Given the description of an element on the screen output the (x, y) to click on. 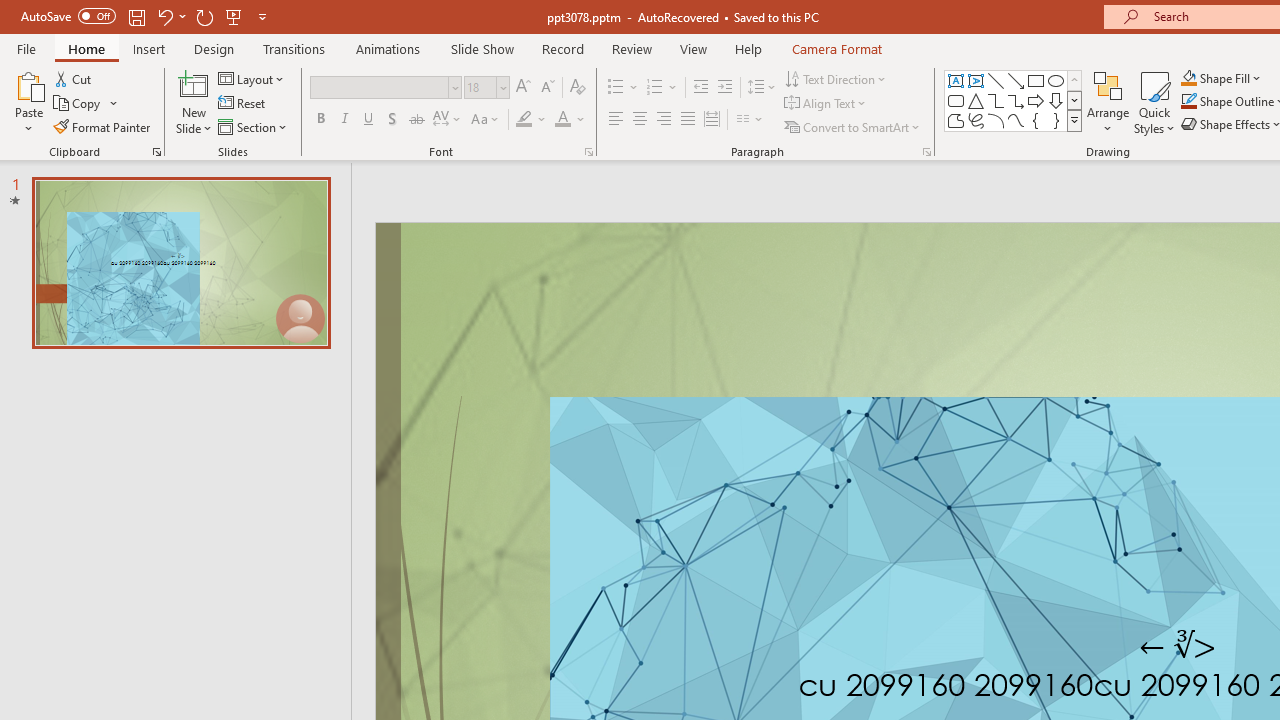
Copy (78, 103)
Text Box (955, 80)
Center (639, 119)
Review (631, 48)
Layout (252, 78)
Quick Access Toolbar (145, 16)
Customize Quick Access Toolbar (262, 15)
Font (379, 87)
Numbering (661, 87)
Line Spacing (762, 87)
Paragraph... (926, 151)
Format Painter (103, 126)
View (693, 48)
